Given the description of an element on the screen output the (x, y) to click on. 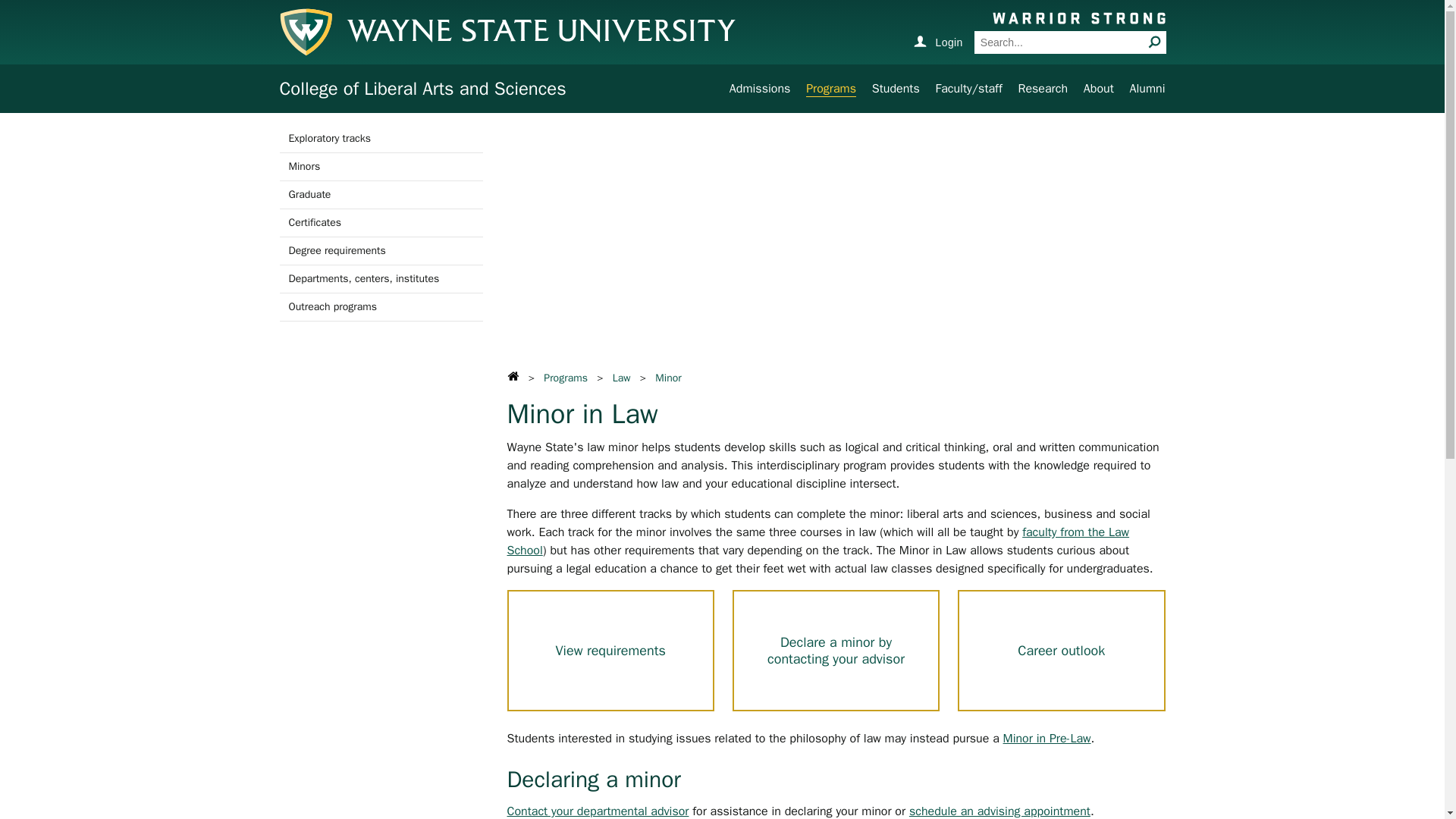
Graduate (380, 194)
Declare a minor by contacting your advisor (835, 650)
home (512, 376)
Outreach programs (380, 307)
Certificates (380, 222)
Departments, centers, institutes (380, 278)
Admissions (759, 88)
Login (937, 41)
Law (621, 377)
Research (1042, 88)
